Given the description of an element on the screen output the (x, y) to click on. 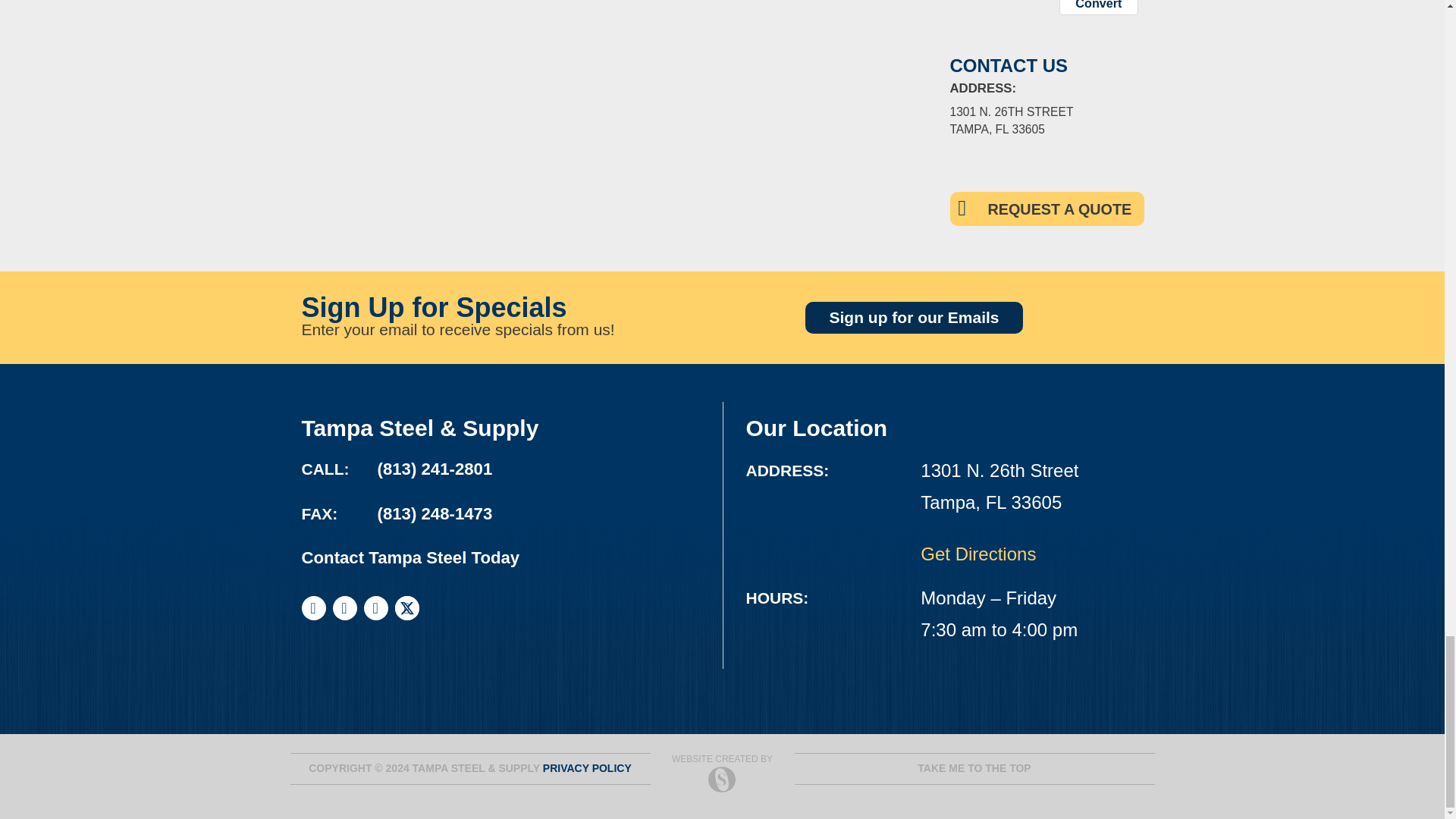
Convert (1098, 7)
